Given the description of an element on the screen output the (x, y) to click on. 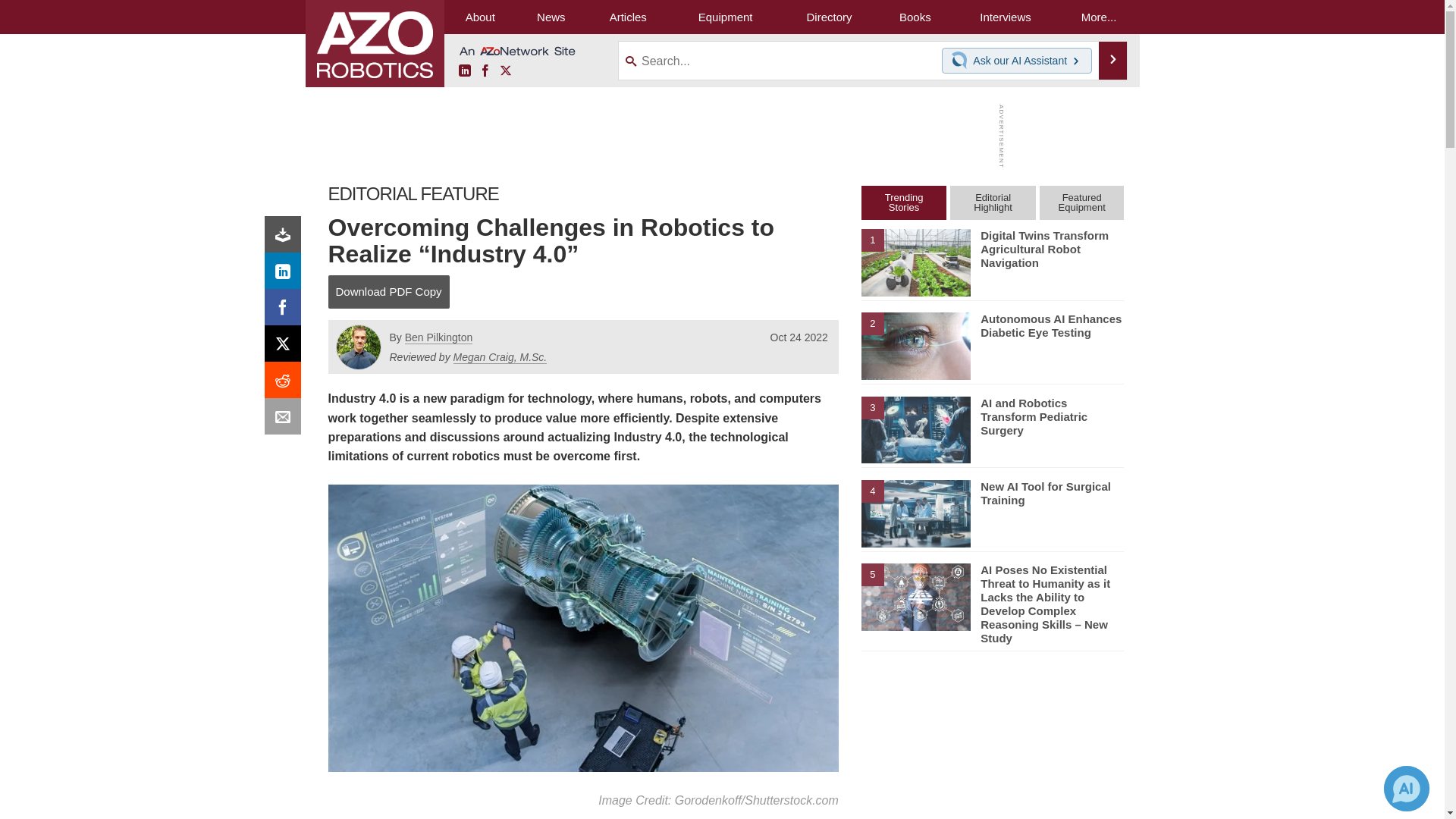
News (551, 17)
Facebook (285, 311)
X (505, 71)
Chat with our AI Assistant Ask our AI Assistant (1017, 60)
LinkedIn (285, 275)
Email (285, 420)
X (285, 348)
Reddit (285, 384)
About (480, 17)
Chat with our AI Assistant (962, 60)
